Given the description of an element on the screen output the (x, y) to click on. 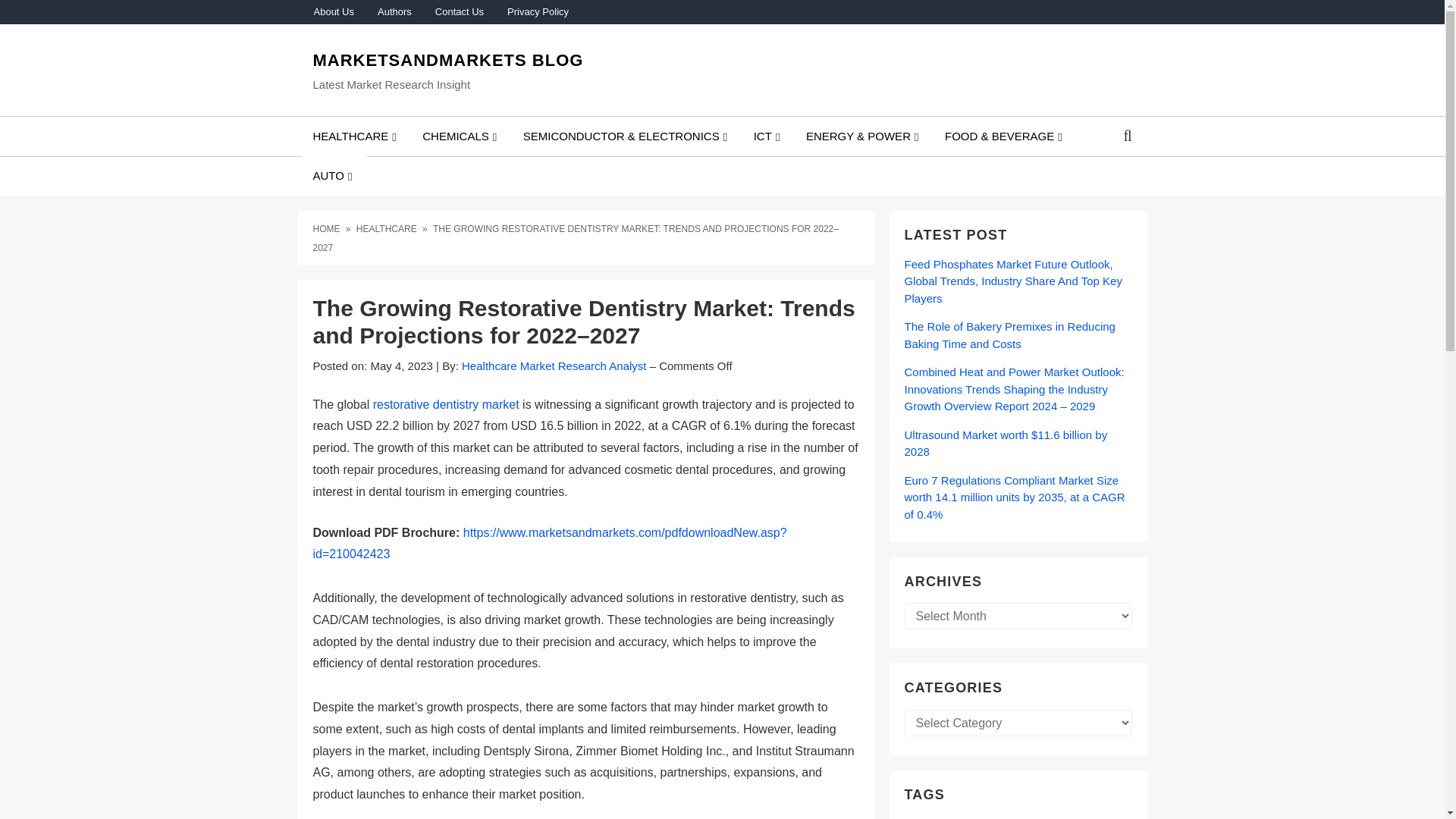
Healthcare (388, 227)
Contact Us (459, 12)
Home (327, 227)
About Us (333, 12)
Privacy Policy (537, 12)
MARKETSANDMARKETS BLOG (448, 60)
Authors (394, 12)
